Given the description of an element on the screen output the (x, y) to click on. 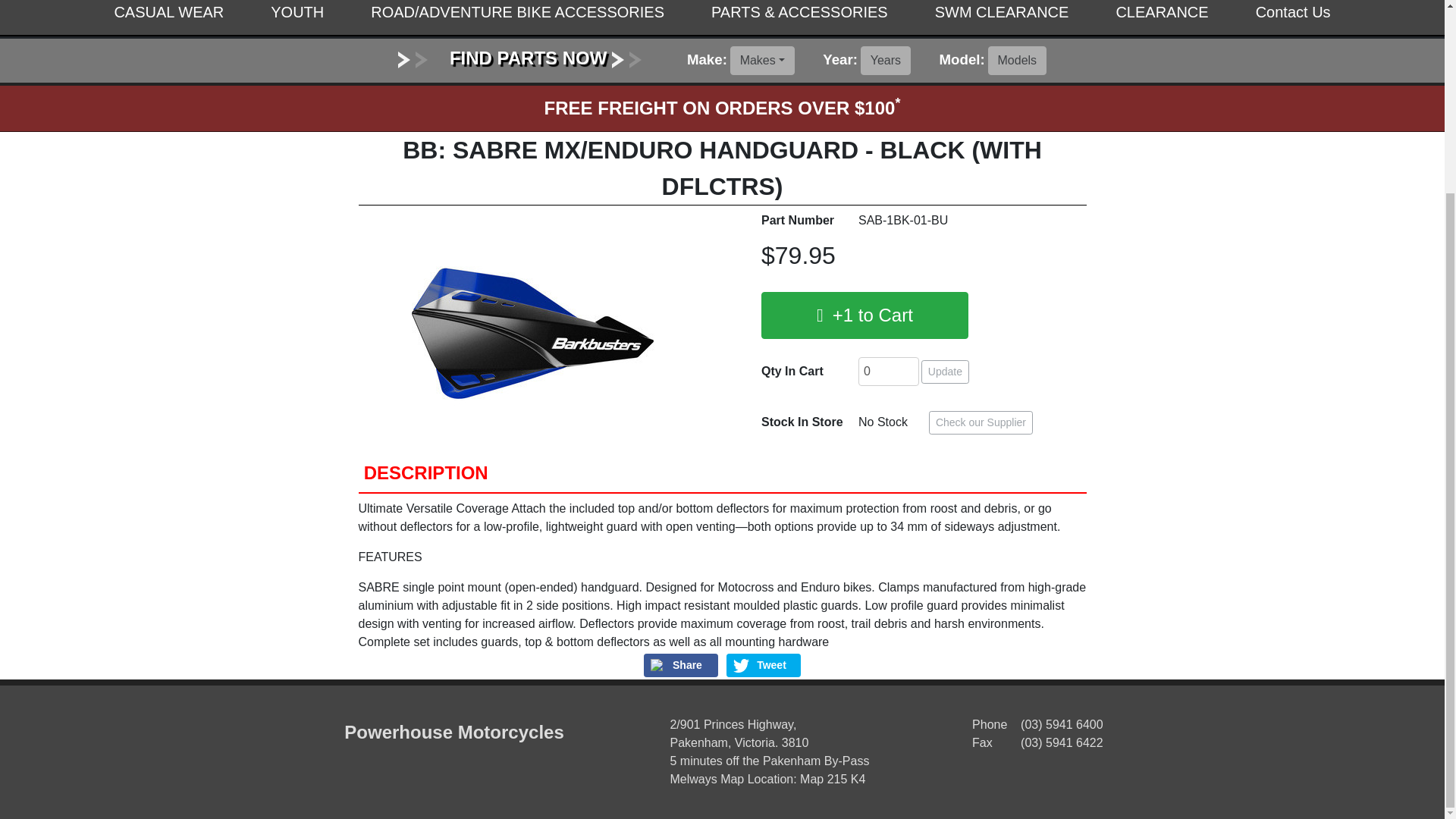
Share (680, 665)
Years (885, 60)
Makes (762, 60)
Update (945, 372)
SWM CLEARANCE (1002, 17)
Check our Supplier (980, 422)
0 (888, 371)
CASUAL WEAR (168, 17)
Tweet (763, 665)
Models (1017, 60)
